Given the description of an element on the screen output the (x, y) to click on. 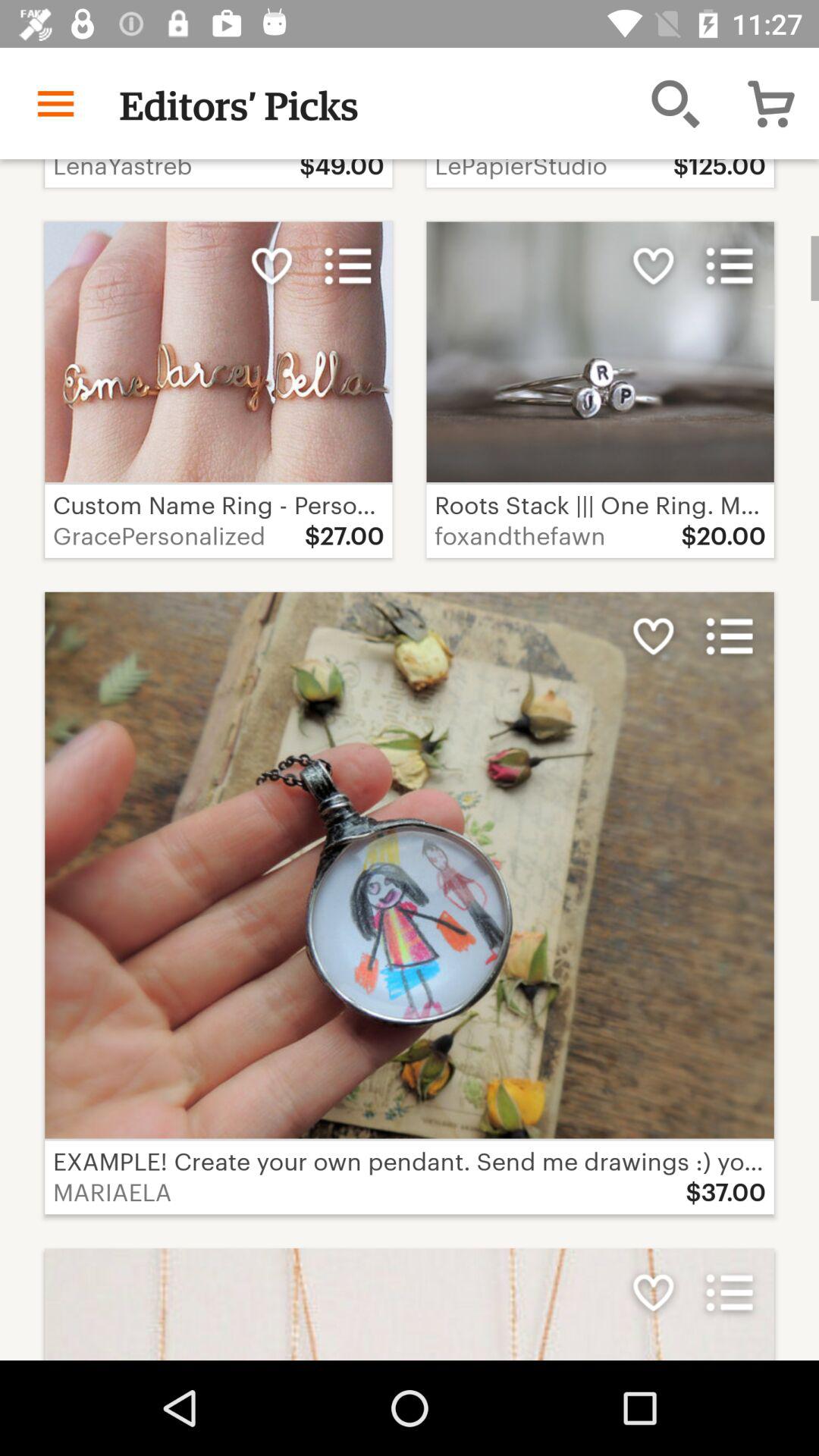
select the item next to $49.00 item (675, 103)
